Given the description of an element on the screen output the (x, y) to click on. 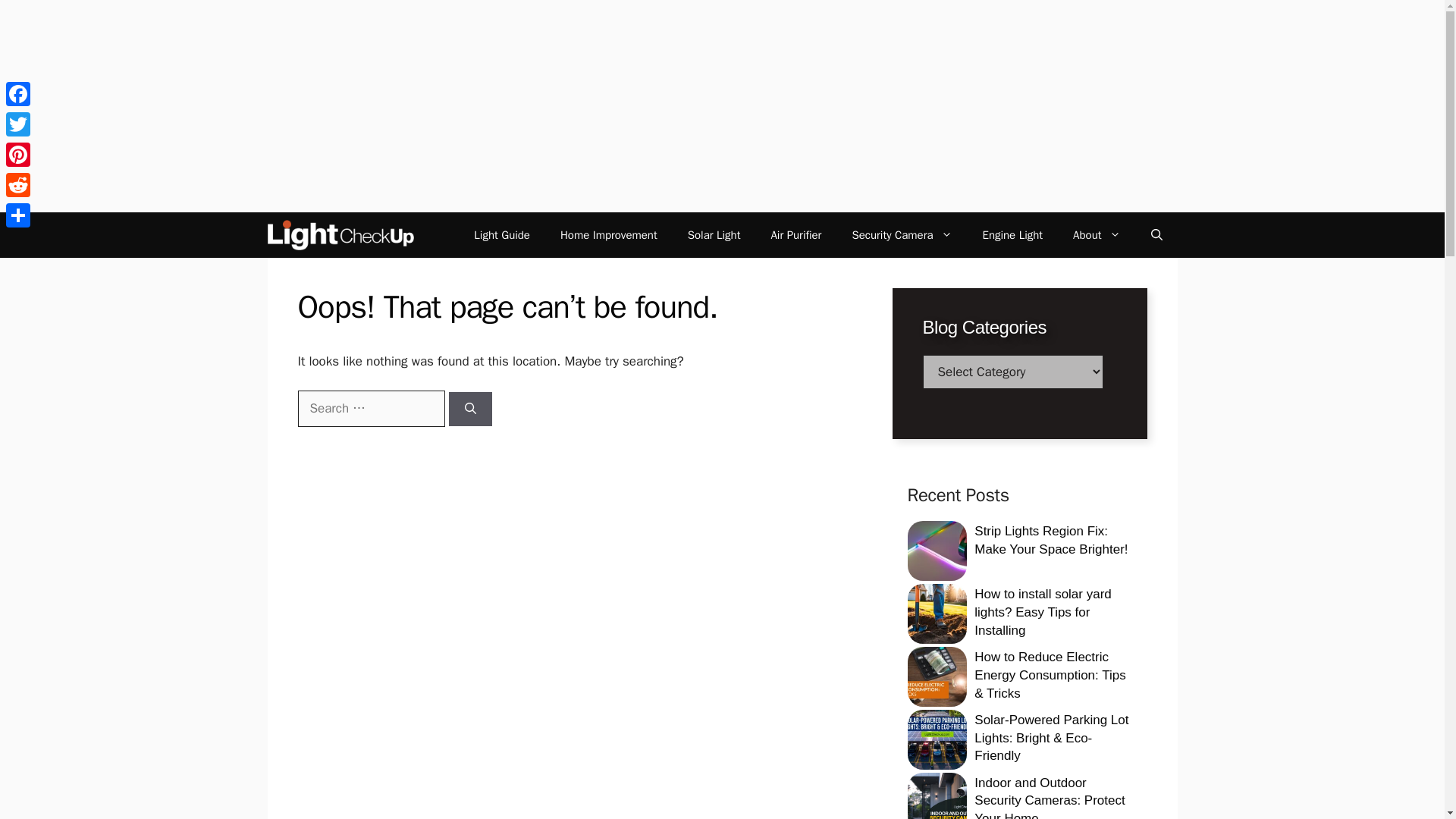
Reddit (17, 184)
About (1096, 234)
How to install solar yard lights? Easy Tips for Installing (1042, 612)
Security Camera (900, 234)
Strip Lights Region Fix: Make Your Space Brighter! (1050, 540)
Pinterest (17, 154)
LightCheckUp (339, 234)
Facebook (17, 93)
Home Improvement (608, 234)
Engine Light (1013, 234)
